Given the description of an element on the screen output the (x, y) to click on. 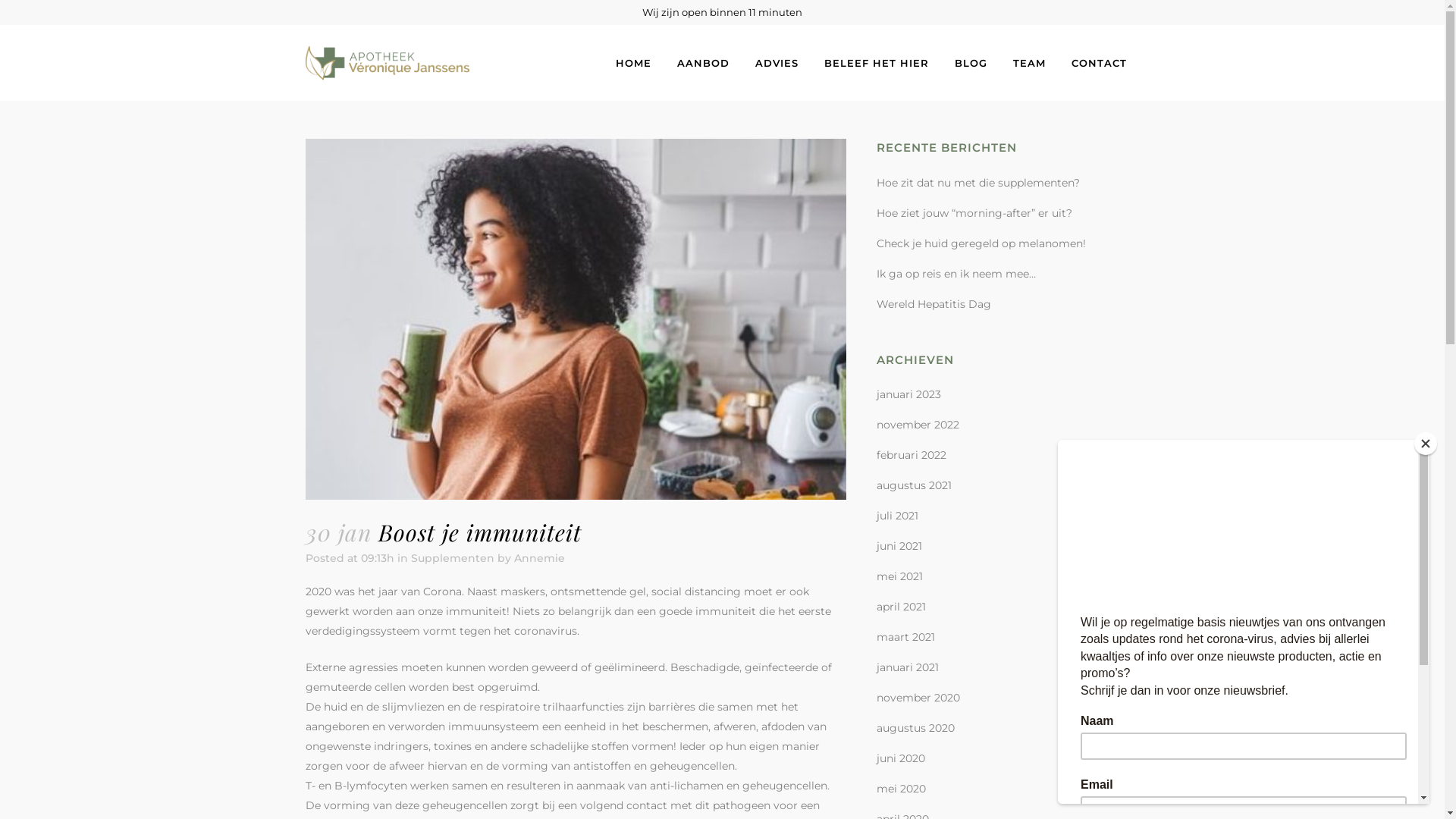
november 2020 Element type: text (918, 697)
BELEEF HET HIER Element type: text (876, 62)
AANBOD Element type: text (703, 62)
juni 2020 Element type: text (900, 758)
maart 2021 Element type: text (905, 636)
Supplementen Element type: text (452, 557)
mei 2020 Element type: text (900, 788)
januari 2021 Element type: text (907, 667)
januari 2023 Element type: text (908, 394)
februari 2022 Element type: text (911, 454)
november 2022 Element type: text (917, 424)
Check je huid geregeld op melanomen! Element type: text (980, 243)
april 2021 Element type: text (900, 606)
Annemie Element type: text (539, 557)
HOME Element type: text (632, 62)
TEAM Element type: text (1028, 62)
BLOG Element type: text (970, 62)
mei 2021 Element type: text (899, 576)
juli 2021 Element type: text (897, 515)
ADVIES Element type: text (775, 62)
augustus 2020 Element type: text (915, 727)
Wereld Hepatitis Dag Element type: text (933, 303)
juni 2021 Element type: text (899, 545)
augustus 2021 Element type: text (913, 485)
Hoe zit dat nu met die supplementen? Element type: text (977, 182)
CONTACT Element type: text (1098, 62)
